Given the description of an element on the screen output the (x, y) to click on. 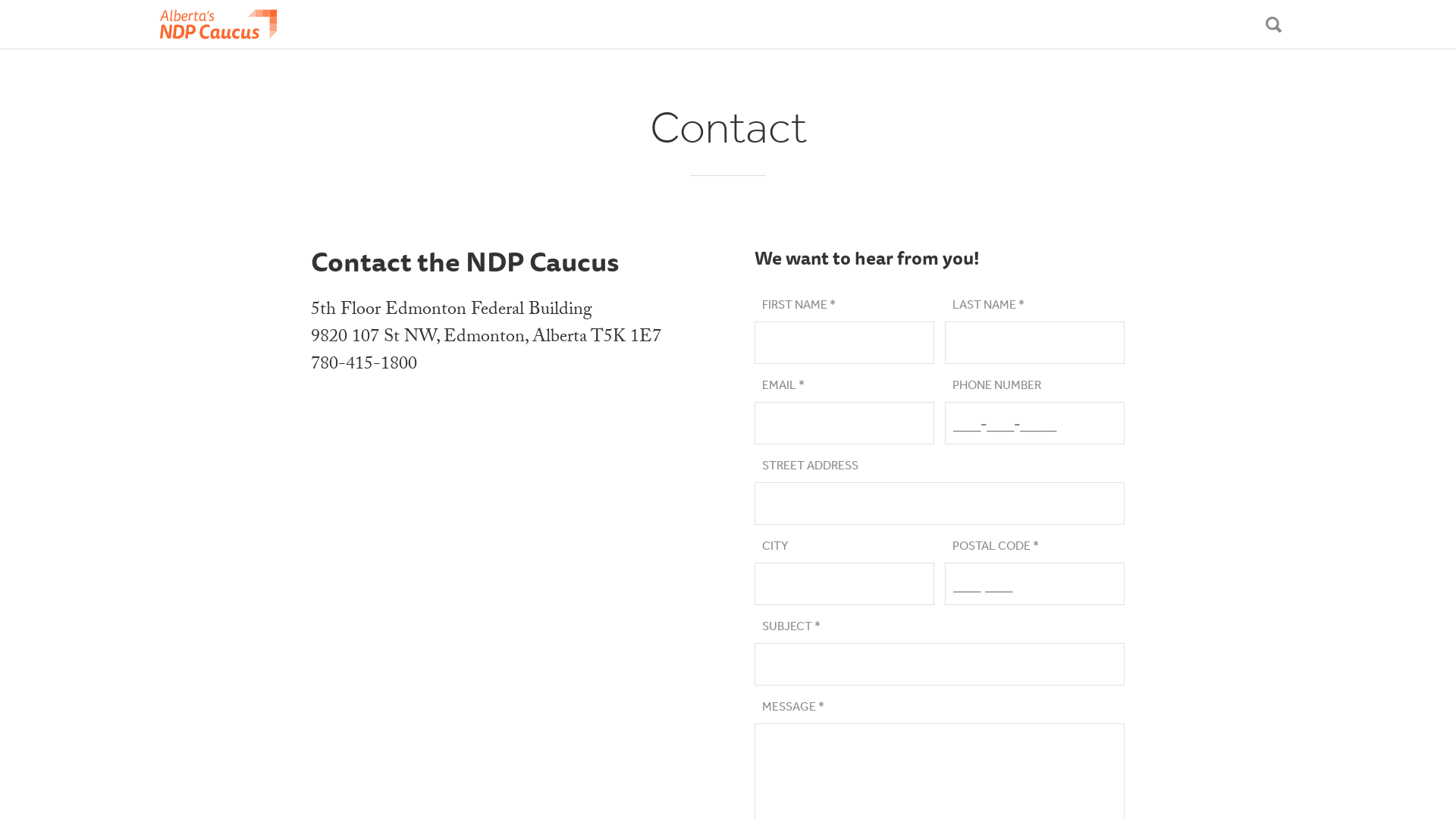
Search Element type: text (1273, 24)
